Given the description of an element on the screen output the (x, y) to click on. 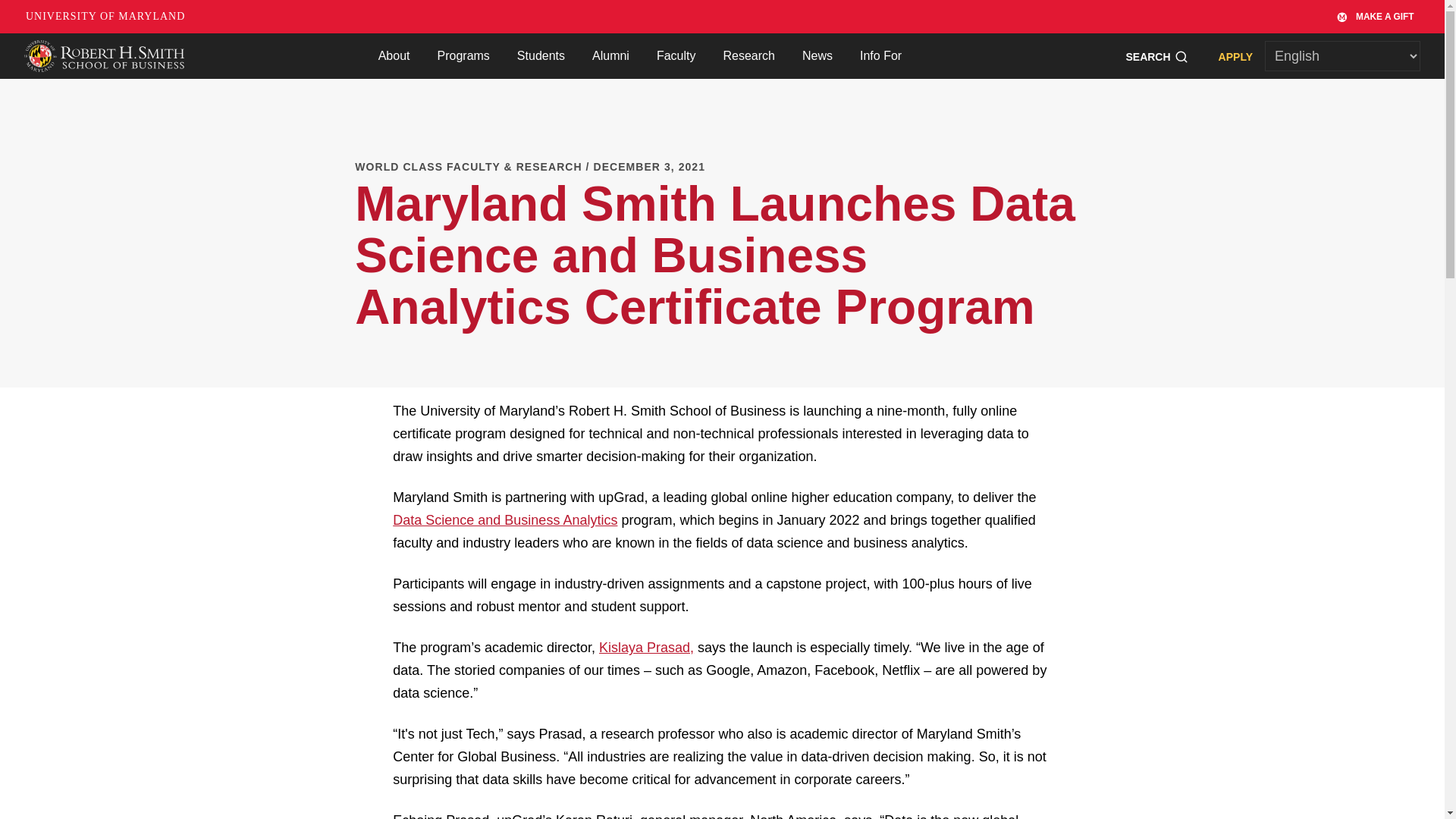
Programs (462, 55)
About (394, 55)
GIFT (1345, 16)
GIFTMAKE A GIFT (1375, 16)
UNIVERSITY OF MARYLAND (105, 16)
Students (540, 55)
